Given the description of an element on the screen output the (x, y) to click on. 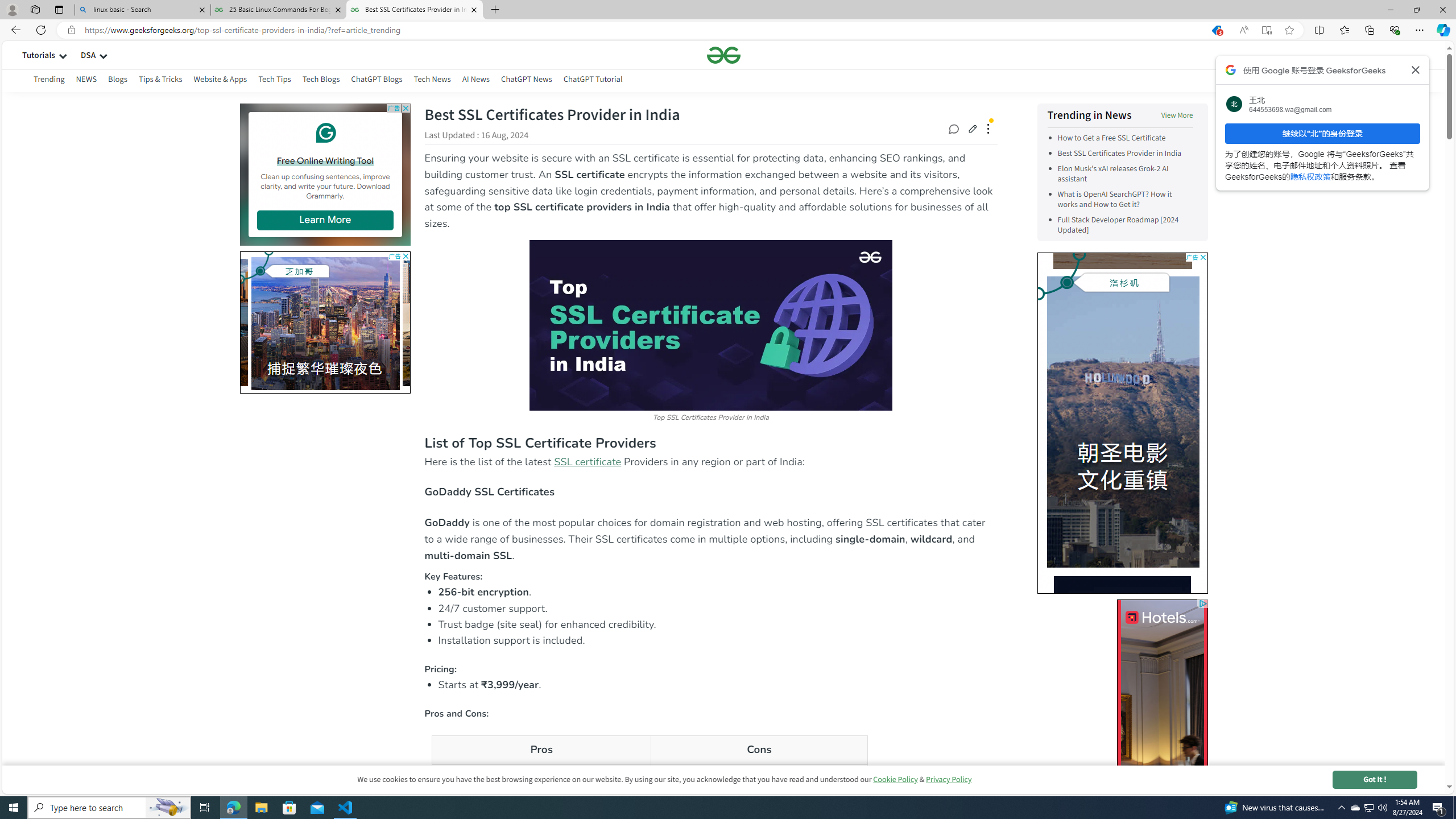
geeksforgeeks (723, 54)
Tech News (432, 80)
How to Get a Free SSL Certificate (1125, 137)
Tips & Tricks (159, 79)
Logo (723, 54)
AutomationID: bg5 (1121, 696)
256-bit encryption. (717, 591)
Free Online Writing Tool (325, 160)
ChatGPT Blogs (376, 79)
Tech Tips (274, 79)
What is OpenAI SearchGPT? How it works and How to Get it? (1114, 199)
